Given the description of an element on the screen output the (x, y) to click on. 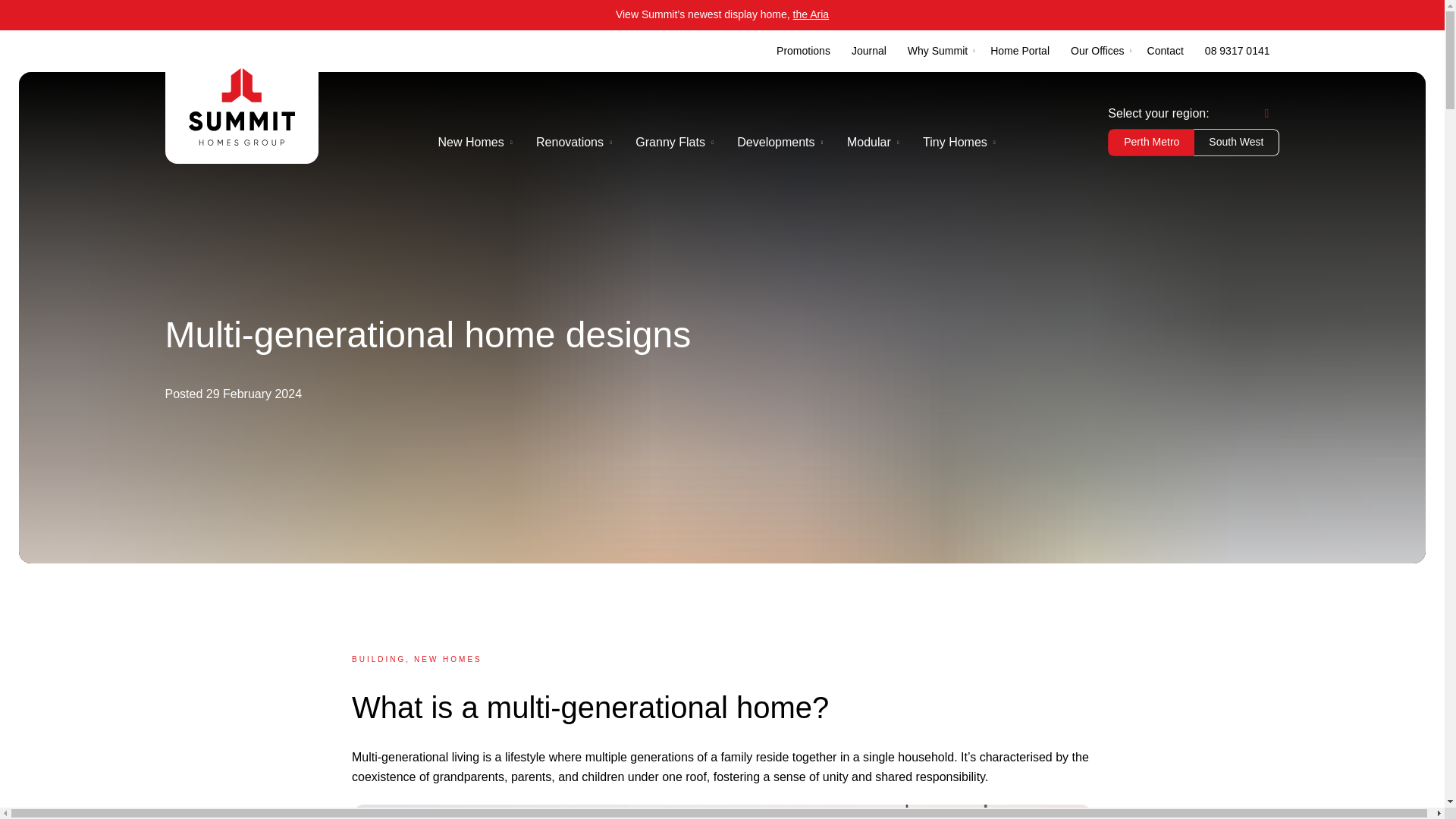
Journal (868, 51)
Renovations (569, 142)
Contact (1165, 51)
the Aria (810, 14)
Promotions (803, 51)
08 9317 0141 (1237, 51)
Home Portal (1019, 51)
New Homes (471, 142)
Why Summit (937, 51)
Our Offices (1097, 51)
